Given the description of an element on the screen output the (x, y) to click on. 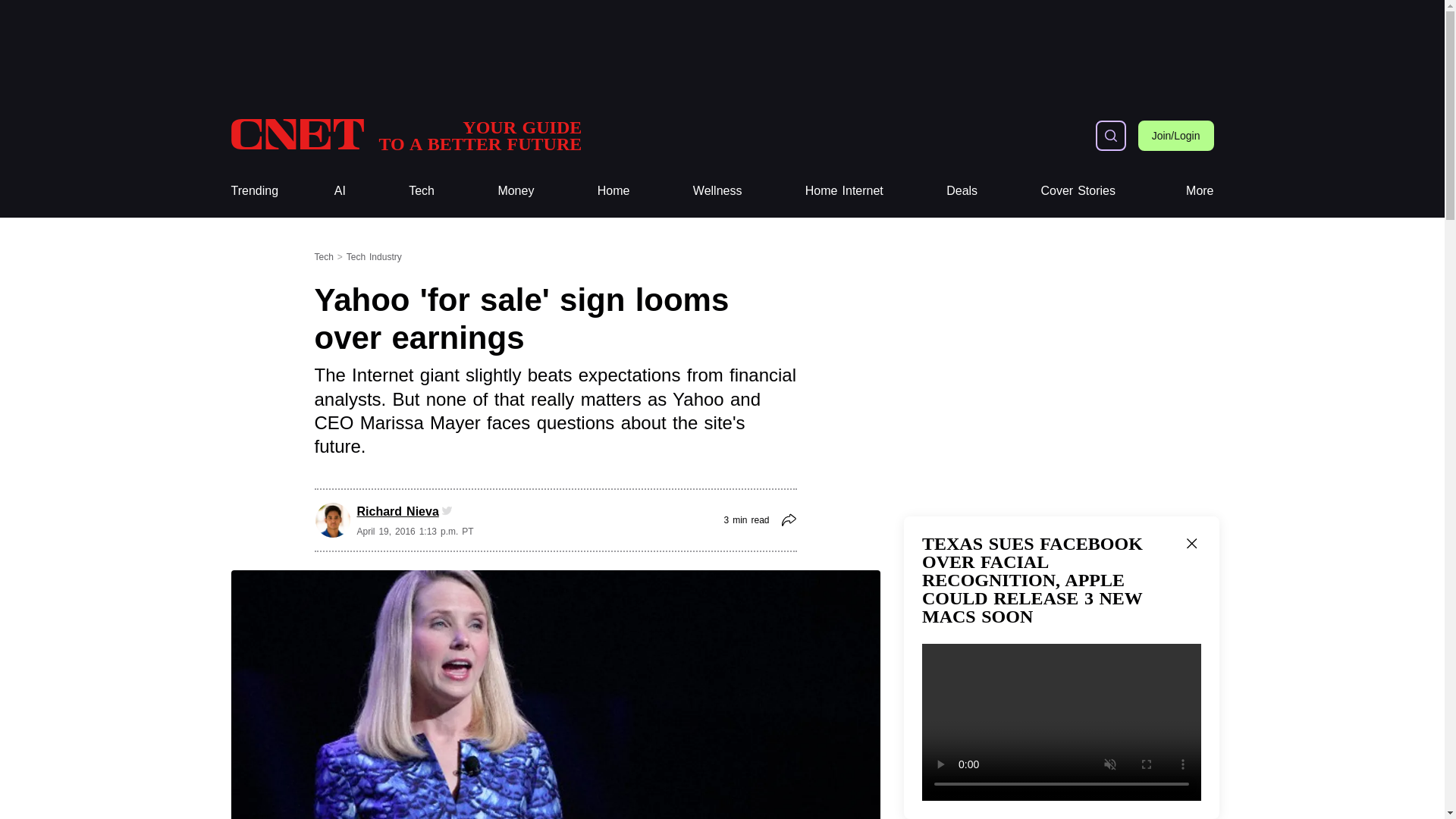
Wellness (717, 190)
CNET (405, 135)
Wellness (717, 190)
Money (515, 190)
Tech (421, 190)
Home Internet (844, 190)
More (1199, 190)
Money (405, 135)
Trending (515, 190)
